Given the description of an element on the screen output the (x, y) to click on. 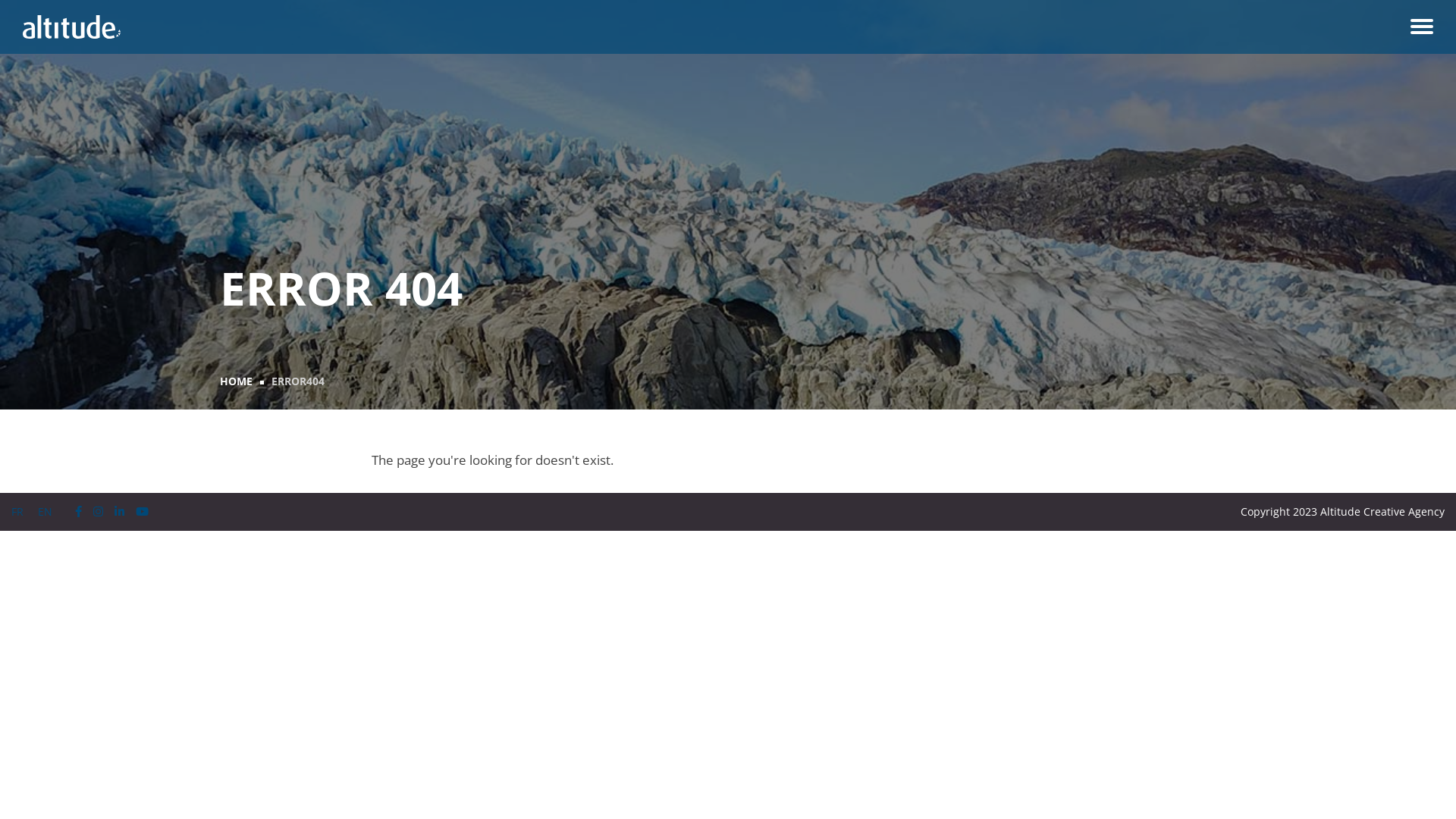
HOME Element type: text (235, 380)
EN Element type: text (44, 510)
FR Element type: text (17, 510)
Altitude Creative Agency Element type: text (71, 26)
